Given the description of an element on the screen output the (x, y) to click on. 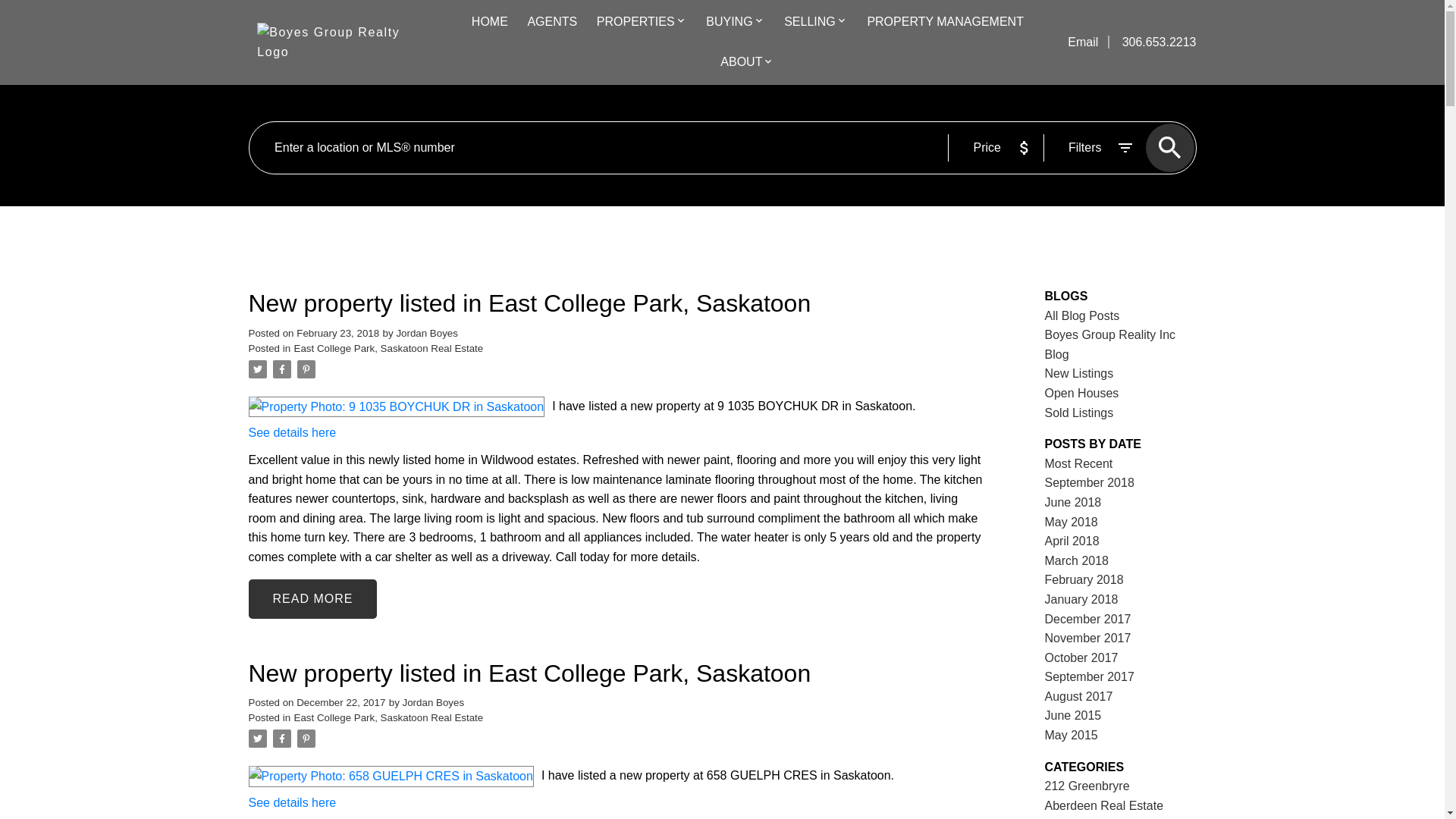
AGENTS (551, 22)
HOME (489, 22)
PROPERTIES (635, 22)
  306.653.2213 (1152, 42)
ABOUT (740, 62)
Email (1083, 42)
PROPERTY MANAGEMENT (944, 22)
BUYING (729, 22)
SELLING (809, 22)
